Given the description of an element on the screen output the (x, y) to click on. 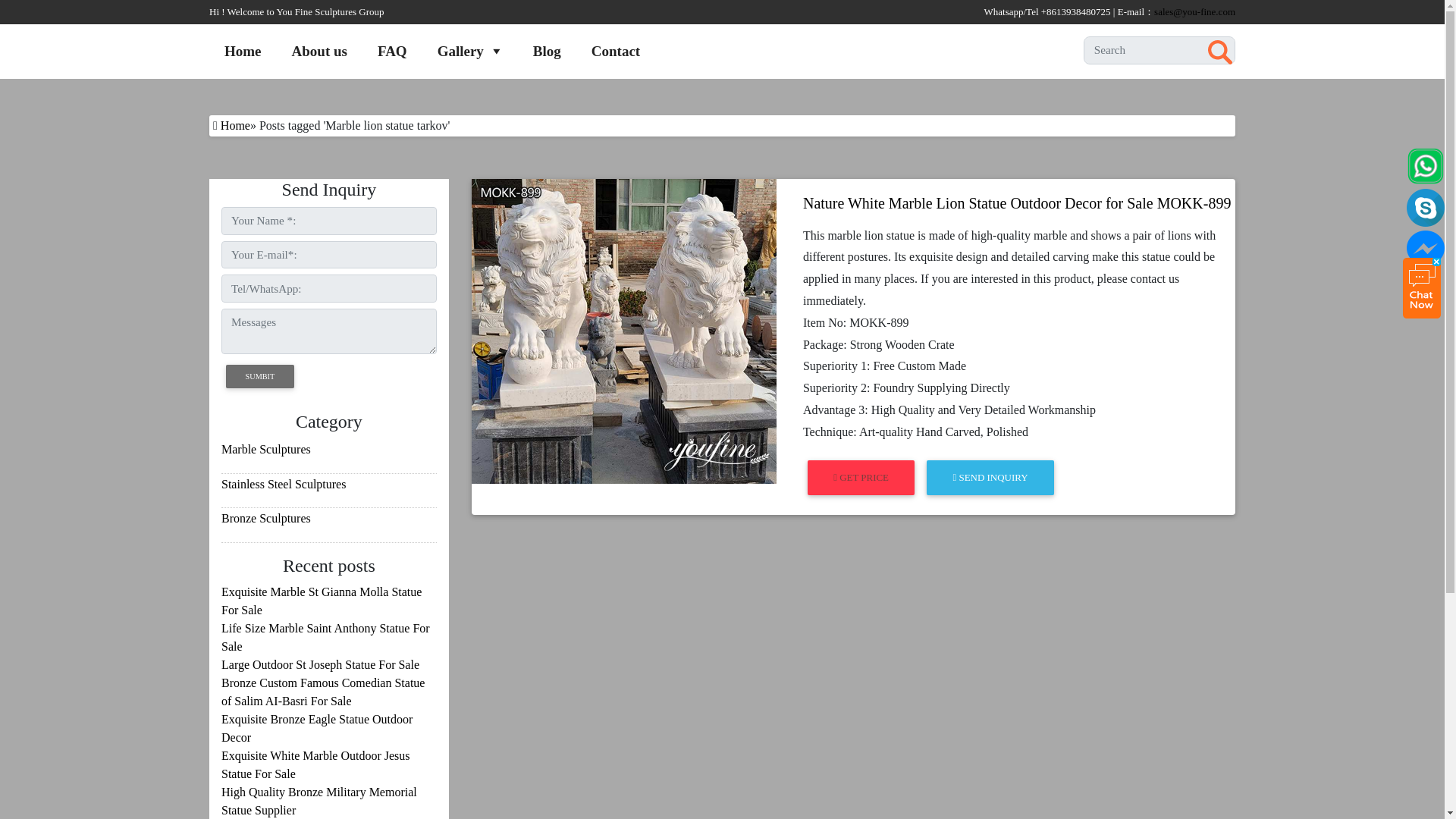
Gallery (470, 51)
Blog (547, 51)
FAQ (392, 51)
About us (319, 51)
Contact (615, 51)
Home (235, 124)
Home (242, 51)
